Given the description of an element on the screen output the (x, y) to click on. 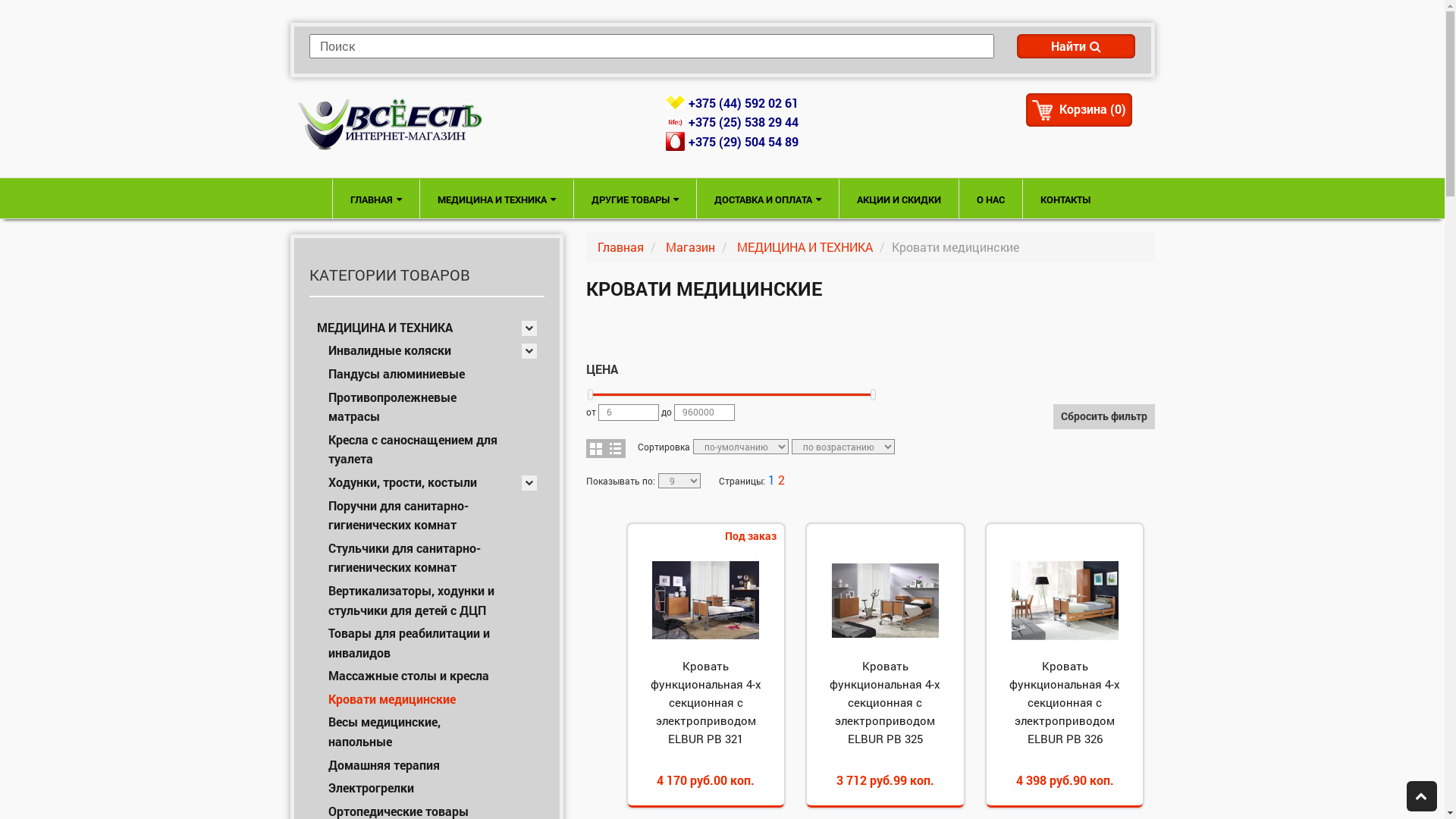
+375 (25) 538 29 44 Element type: text (743, 121)
+375 (44) 592 02 61 Element type: text (743, 102)
(0) Element type: text (1118, 108)
1 Element type: text (770, 479)
+375 (29) 504 54 89 Element type: text (743, 141)
2 Element type: text (781, 479)
